Given the description of an element on the screen output the (x, y) to click on. 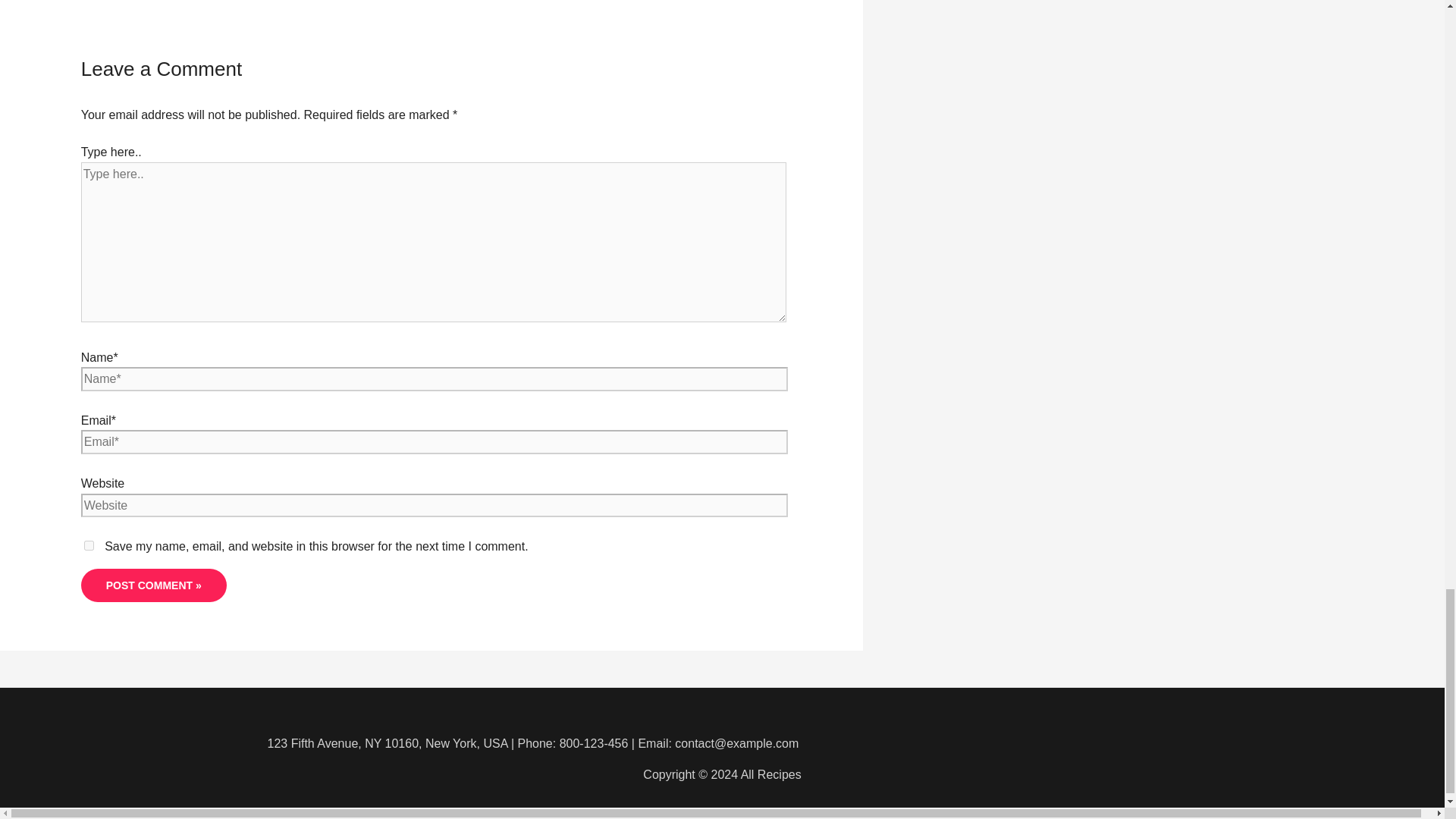
yes (89, 545)
